Given the description of an element on the screen output the (x, y) to click on. 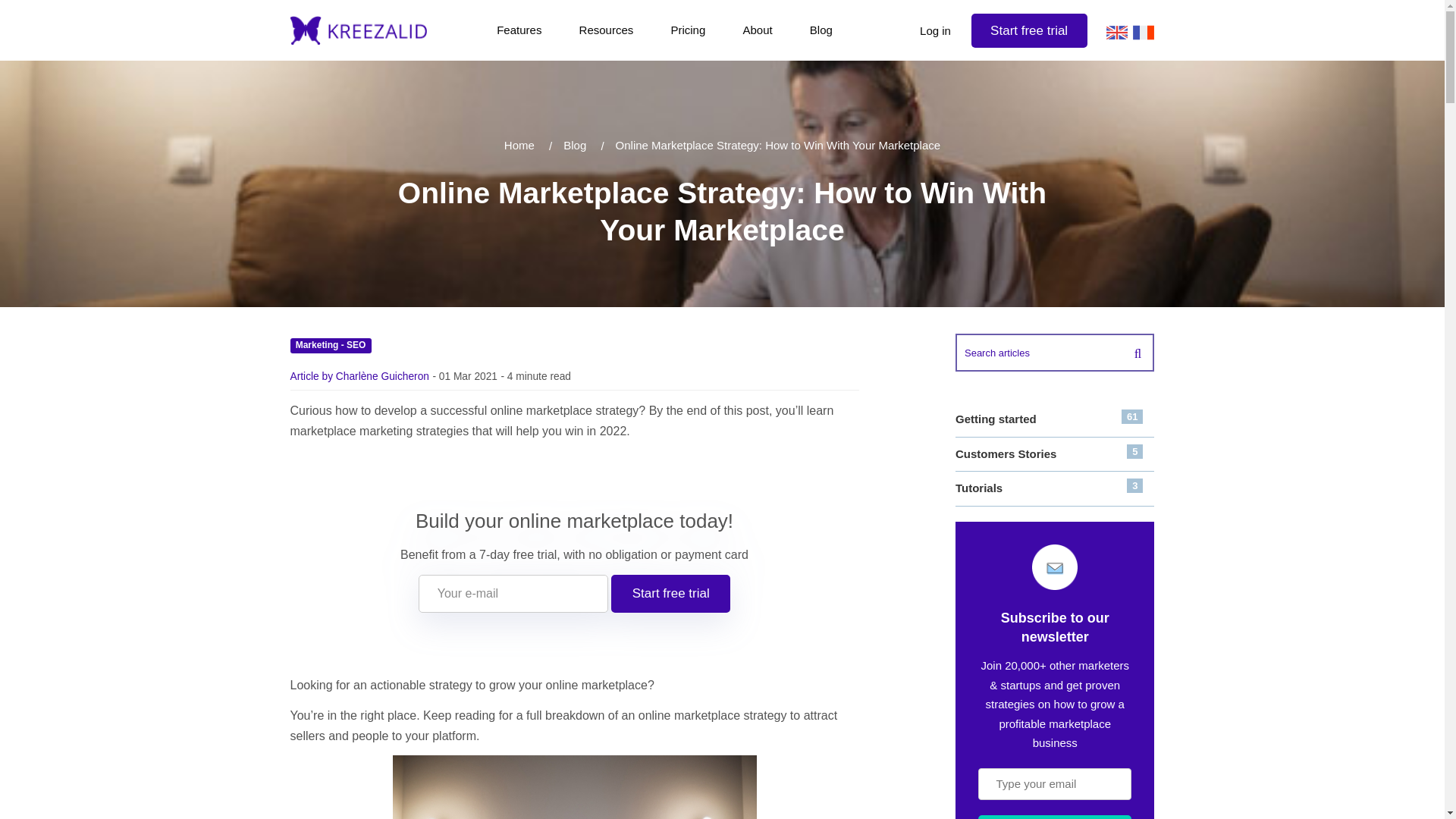
Pricing (1054, 454)
Start free trial (687, 30)
Log in (1029, 30)
About (935, 30)
Start free trial (757, 30)
your online marketplace guide (670, 593)
Features (820, 30)
Marketing - SEO (519, 30)
